Given the description of an element on the screen output the (x, y) to click on. 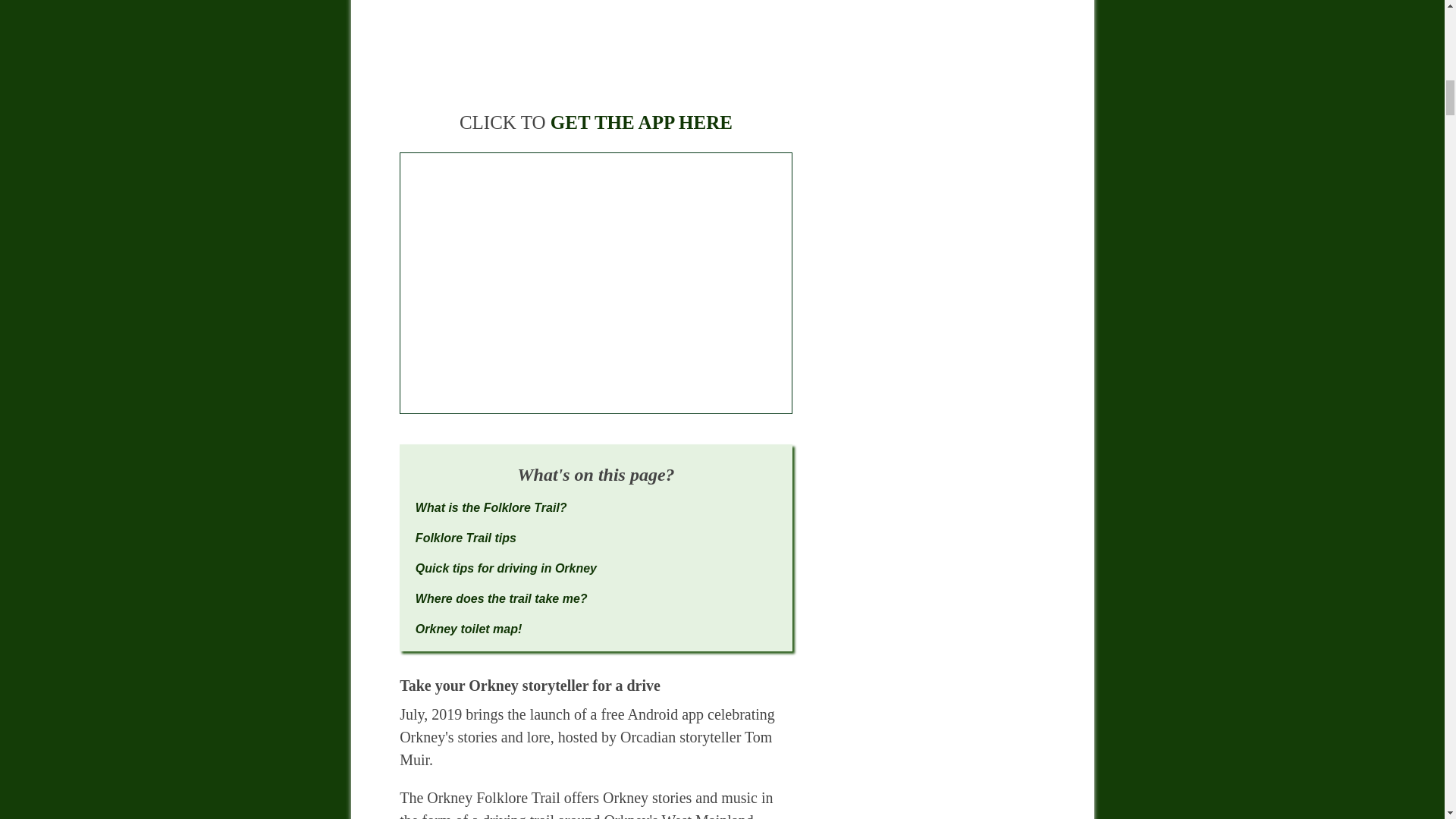
What is the Folklore Trail? (490, 507)
Where does the trail take me? (501, 598)
Quick tips for driving in Orkney (505, 567)
GET THE APP HERE (641, 123)
Folklore Trail tips (465, 537)
Orkney toilet map! (467, 628)
